Given the description of an element on the screen output the (x, y) to click on. 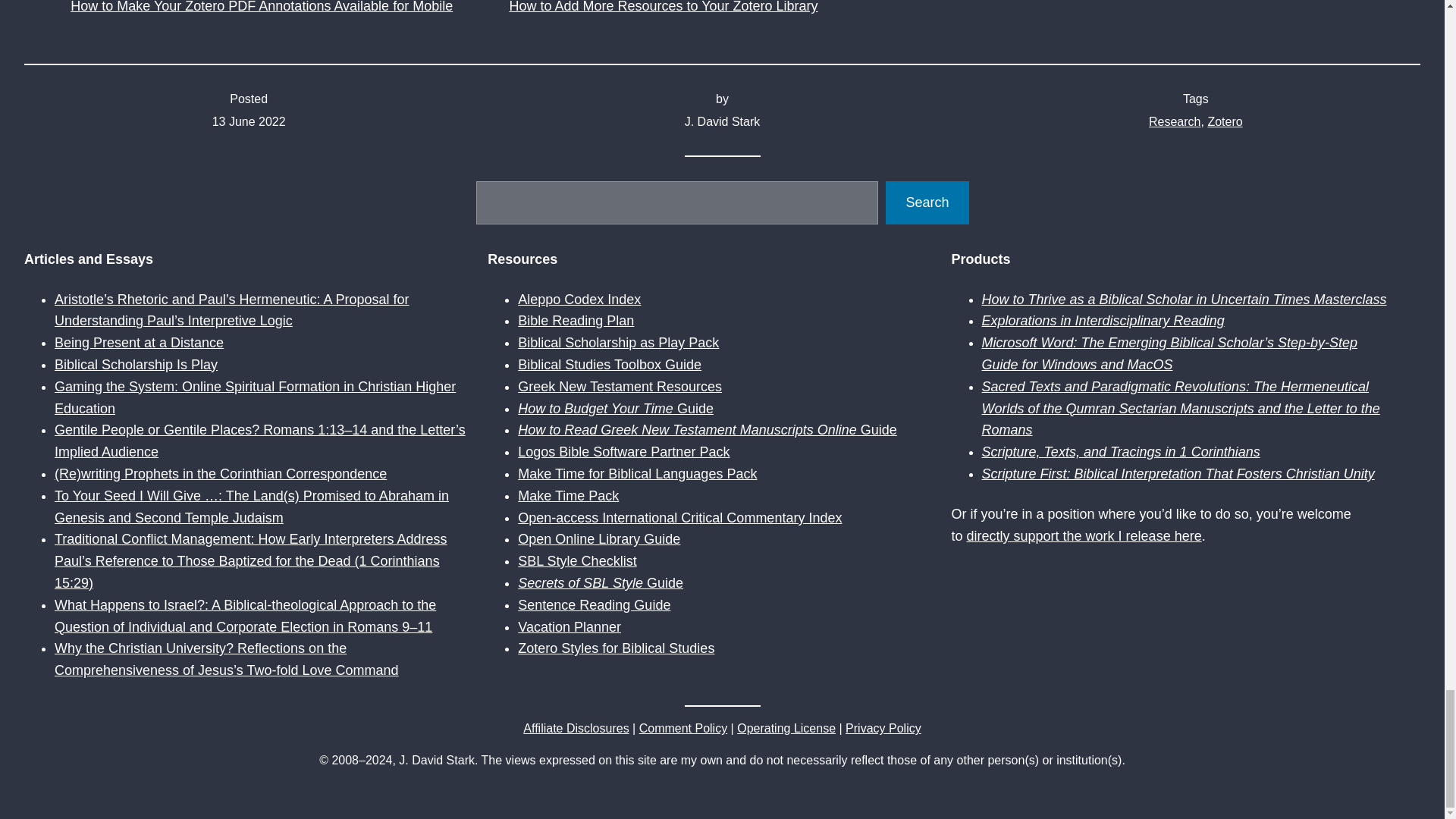
How to Make Your Zotero PDF Annotations Available for Mobile (282, 7)
Biblical Scholarship Is Play (135, 364)
How to Add More Resources to Your Zotero Library (721, 7)
Search (926, 202)
Zotero (1224, 121)
Research (1173, 121)
Being Present at a Distance (139, 342)
